Given the description of an element on the screen output the (x, y) to click on. 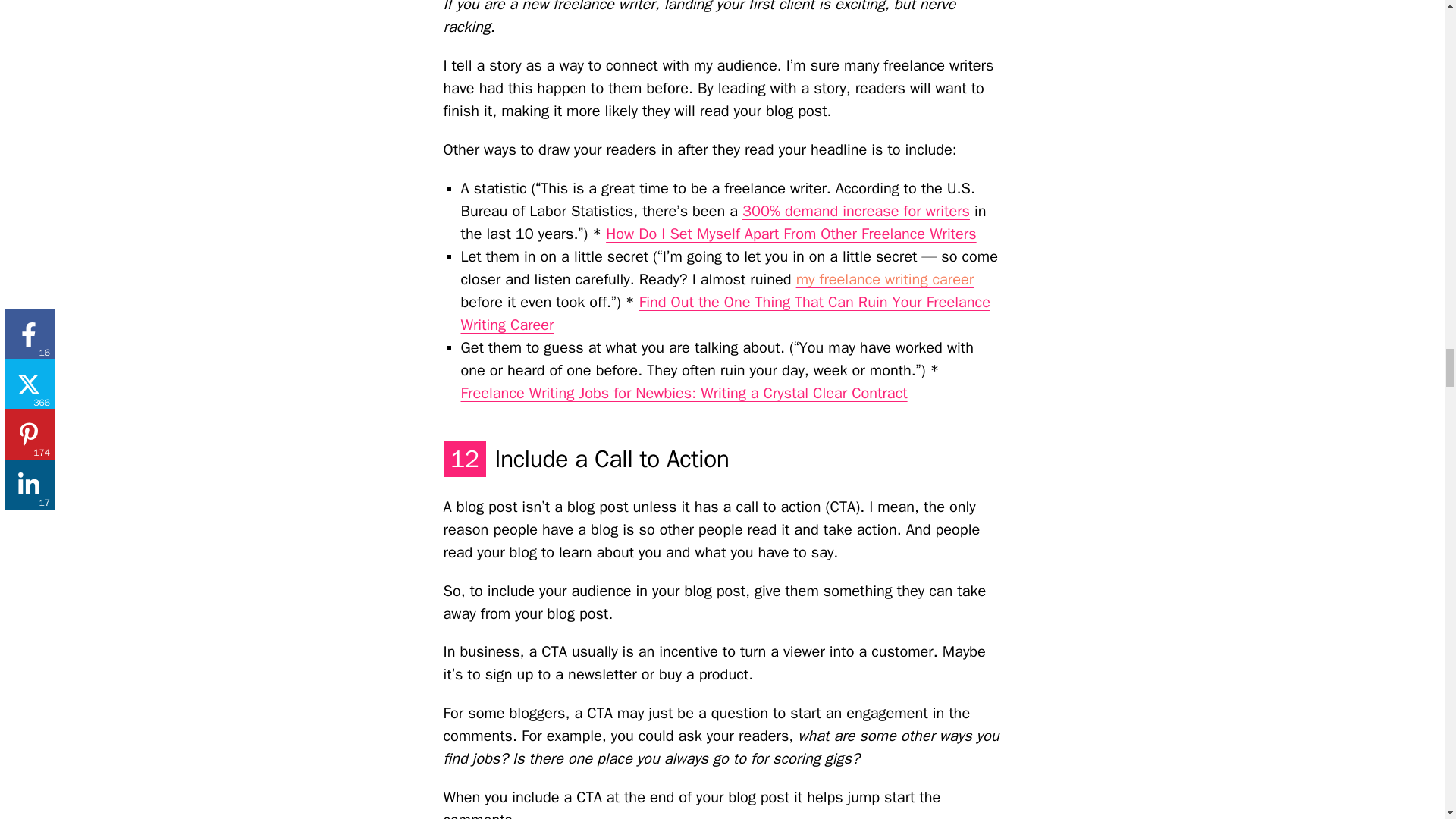
Why This Stay-at-Home Mom Chose Freelance Writing (885, 279)
